Given the description of an element on the screen output the (x, y) to click on. 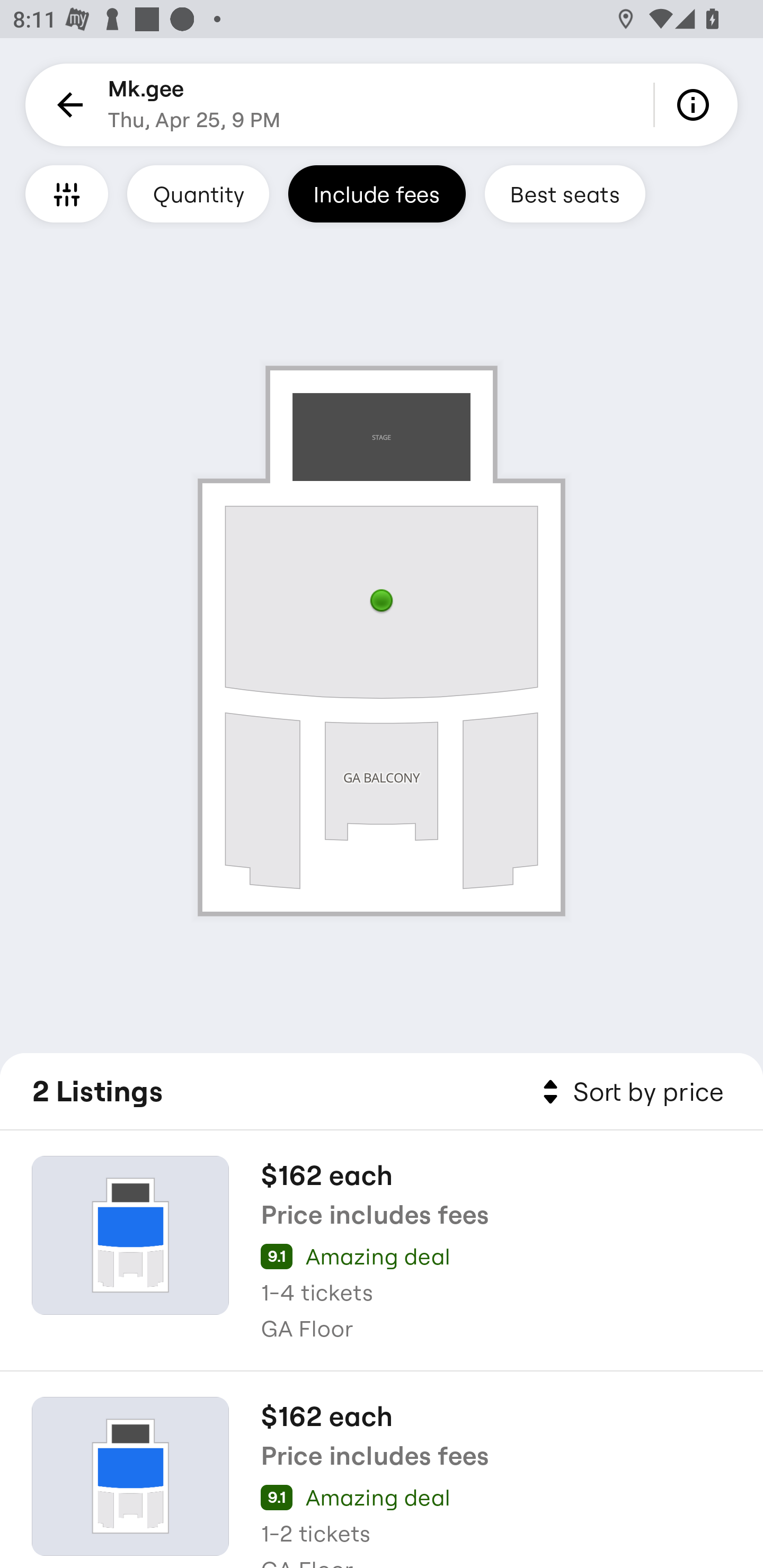
Back Mk.gee Thu, Apr 25, 9 PM Info (381, 104)
Back (66, 104)
Mk.gee Thu, Apr 25, 9 PM (194, 104)
Info (695, 104)
Filters and Accessible Seating (66, 193)
Quantity (198, 193)
Include fees (376, 193)
Best seats (564, 193)
Sort by price (629, 1091)
